Given the description of an element on the screen output the (x, y) to click on. 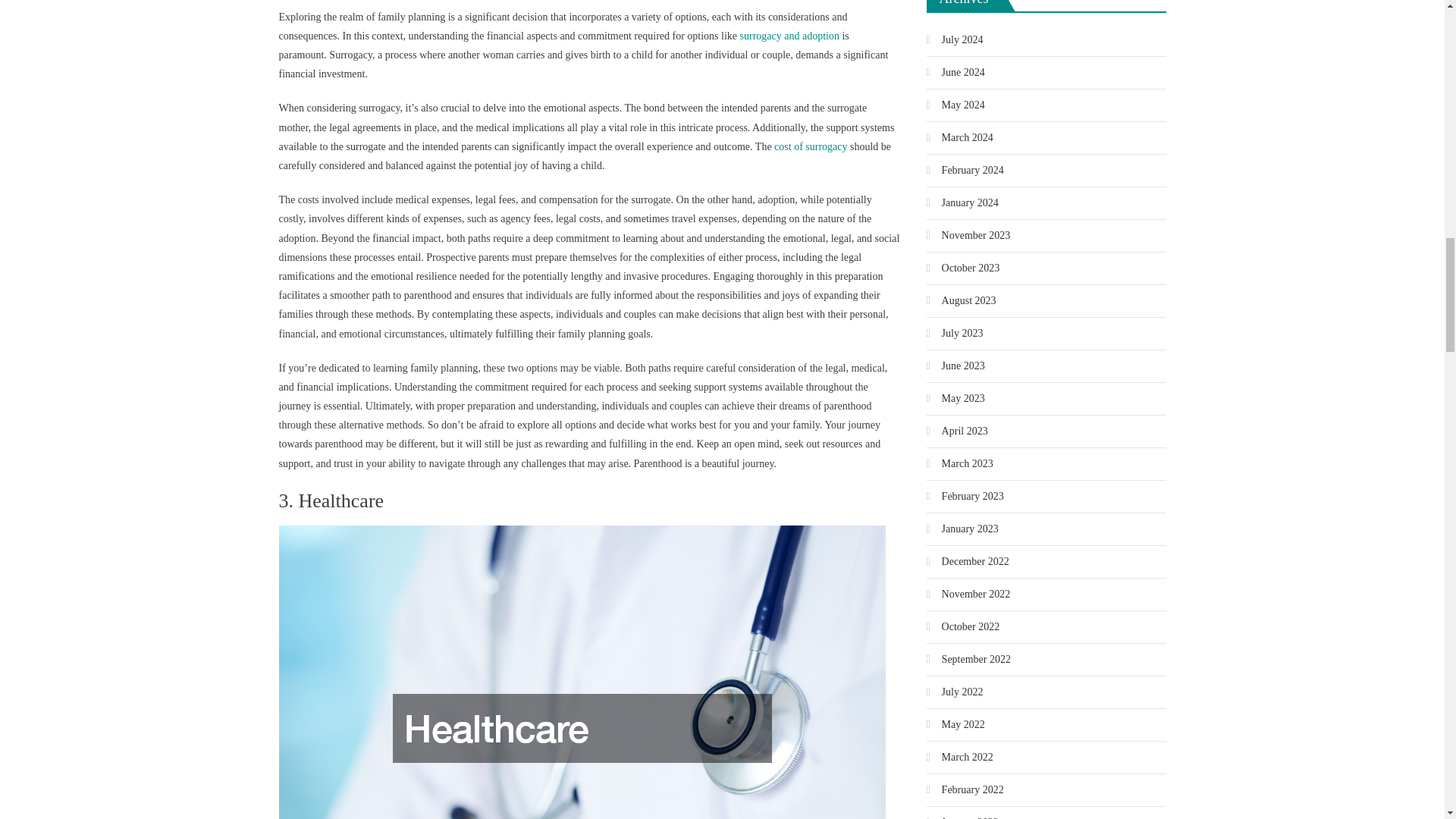
surrogacy and adoption (789, 35)
cost of surrogacy (810, 146)
